Given the description of an element on the screen output the (x, y) to click on. 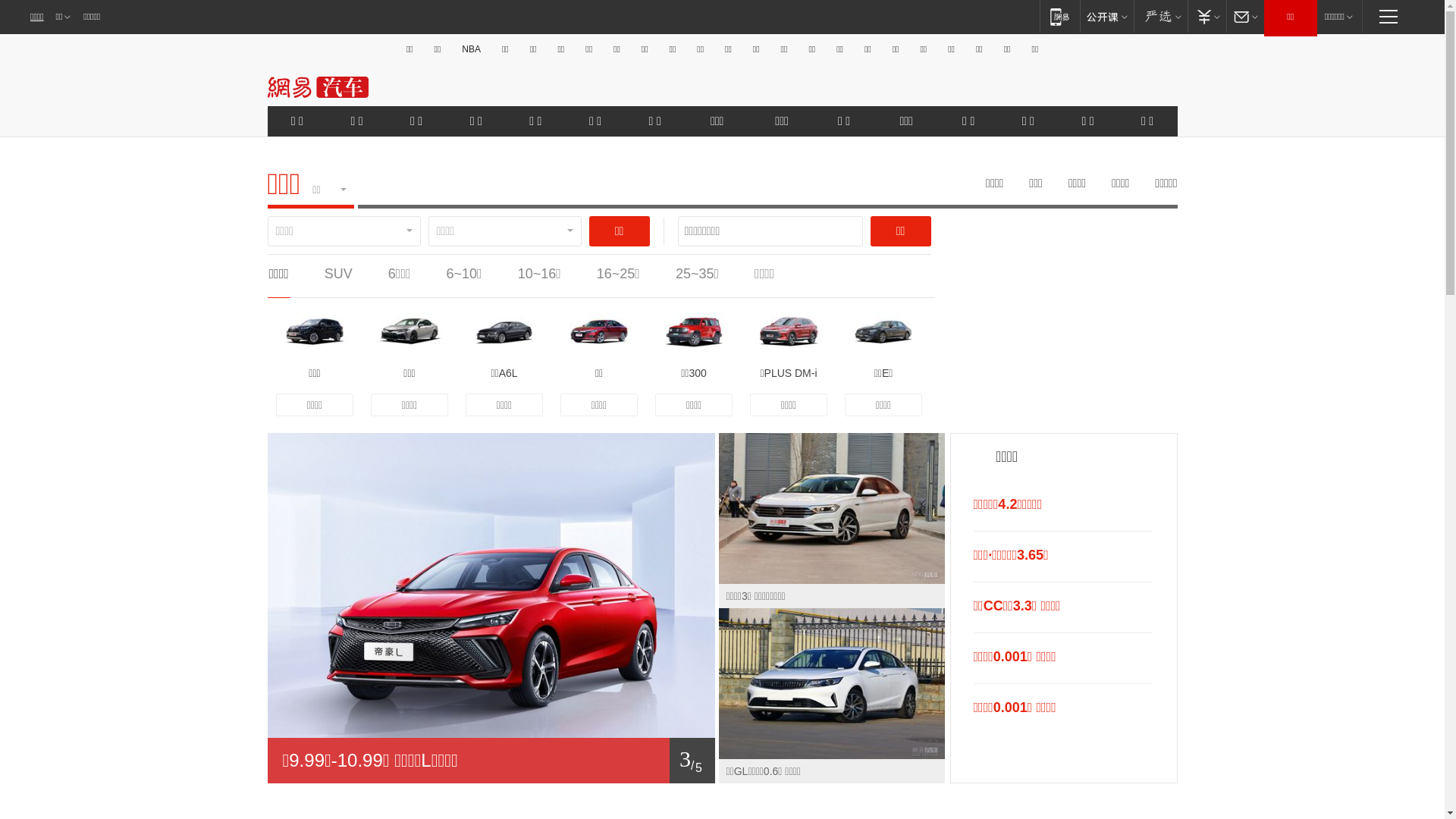
NBA Element type: text (471, 48)
1/ 5 Element type: text (490, 760)
SUV Element type: text (338, 273)
